Given the description of an element on the screen output the (x, y) to click on. 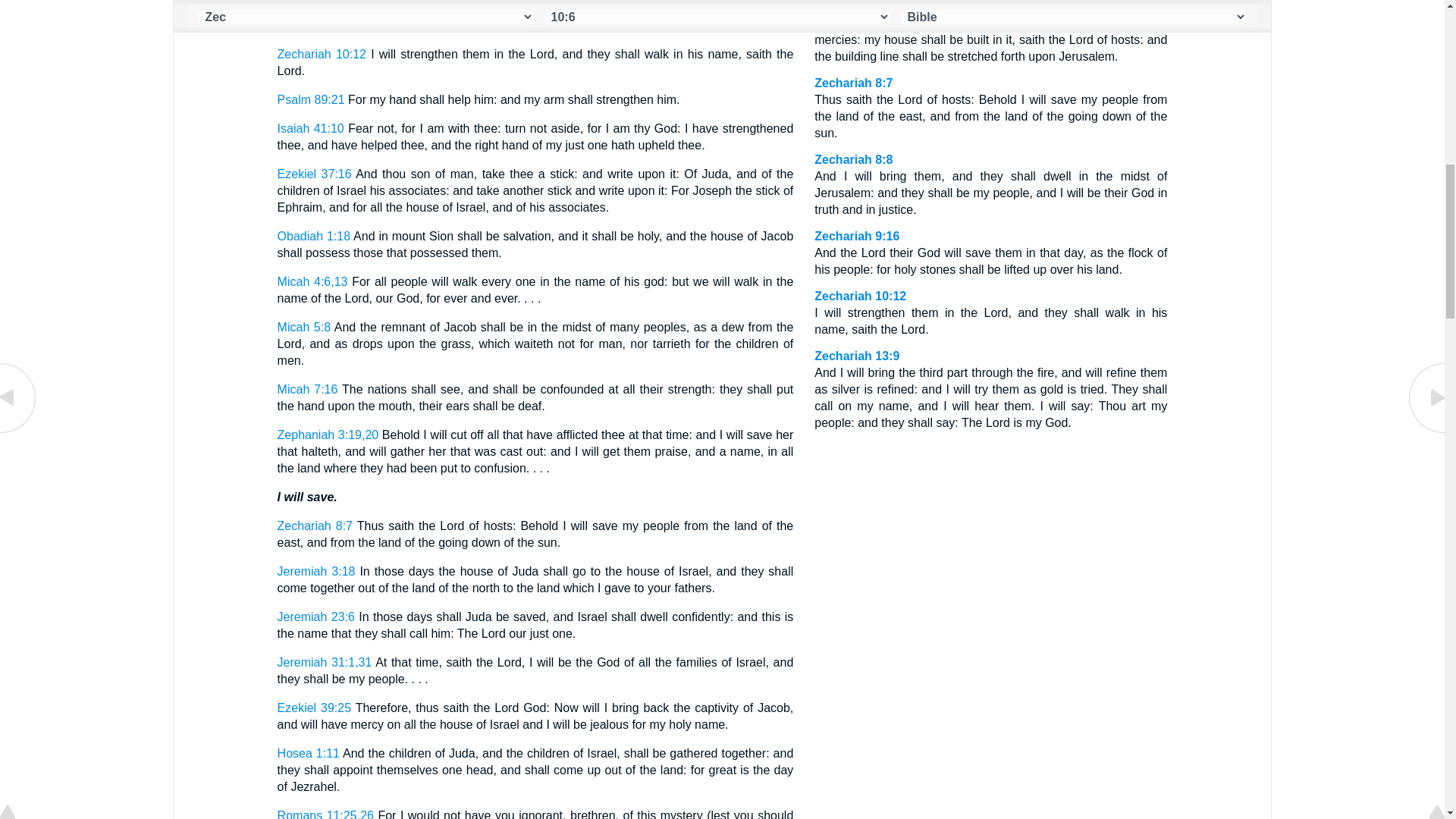
Hosea 1:11 (308, 753)
Micah 4:6,13 (312, 281)
Micah 7:16 (307, 389)
Jeremiah 23:6 (316, 616)
Micah 5:8 (304, 327)
Zechariah 8:7 (315, 525)
Psalm 89:21 (311, 99)
Zephaniah 3:19,20 (328, 434)
Isaiah 41:10 (310, 128)
Jeremiah 31:1,31 (325, 662)
